Given the description of an element on the screen output the (x, y) to click on. 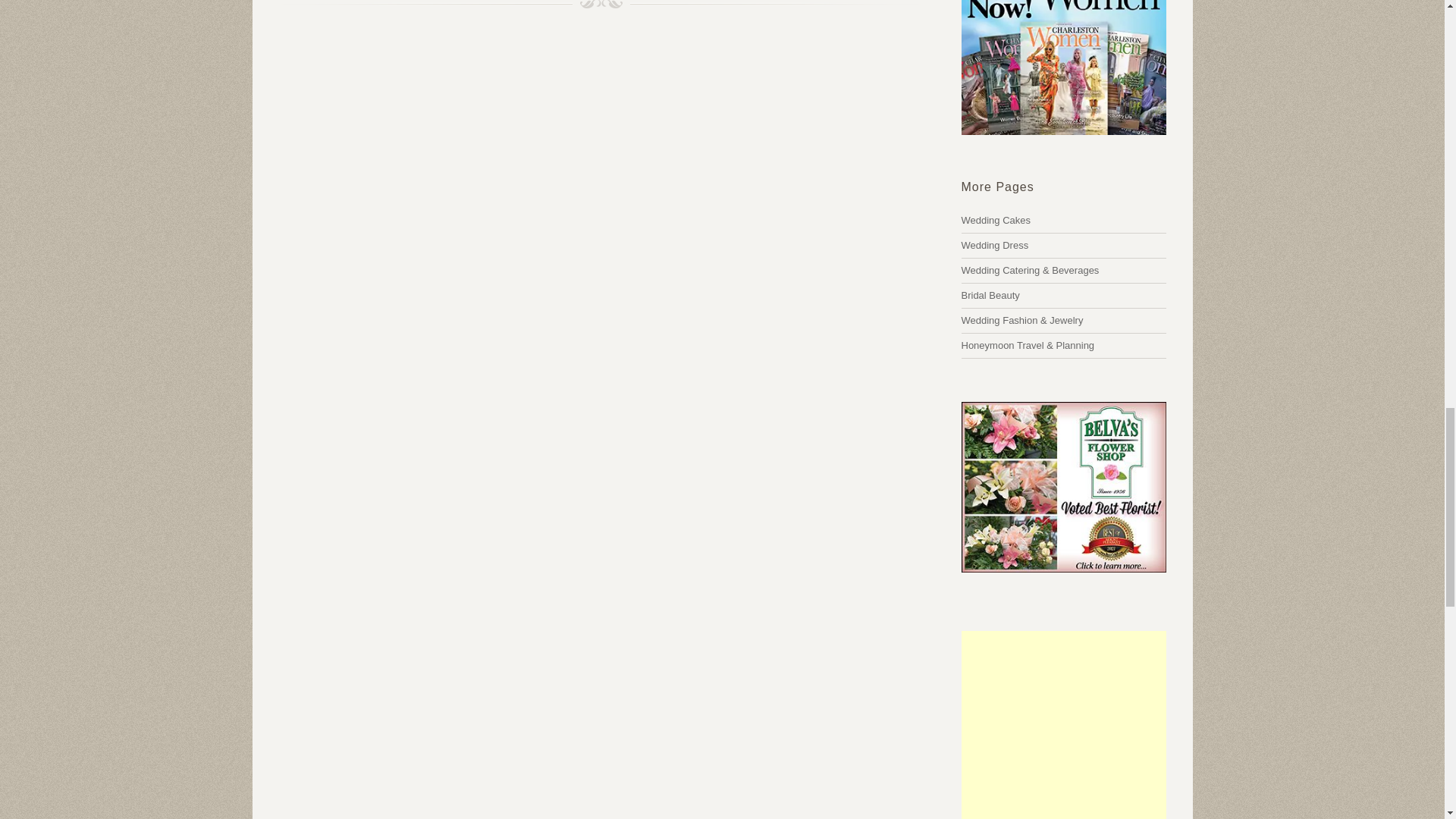
Wedding Dress (994, 244)
Wedding Cakes (994, 244)
The Honeymoon (1027, 345)
Wedding Cakes (995, 220)
Wedding Cakes (1029, 270)
Bridal Beauty (990, 295)
Wedding Cakes (995, 220)
